Given the description of an element on the screen output the (x, y) to click on. 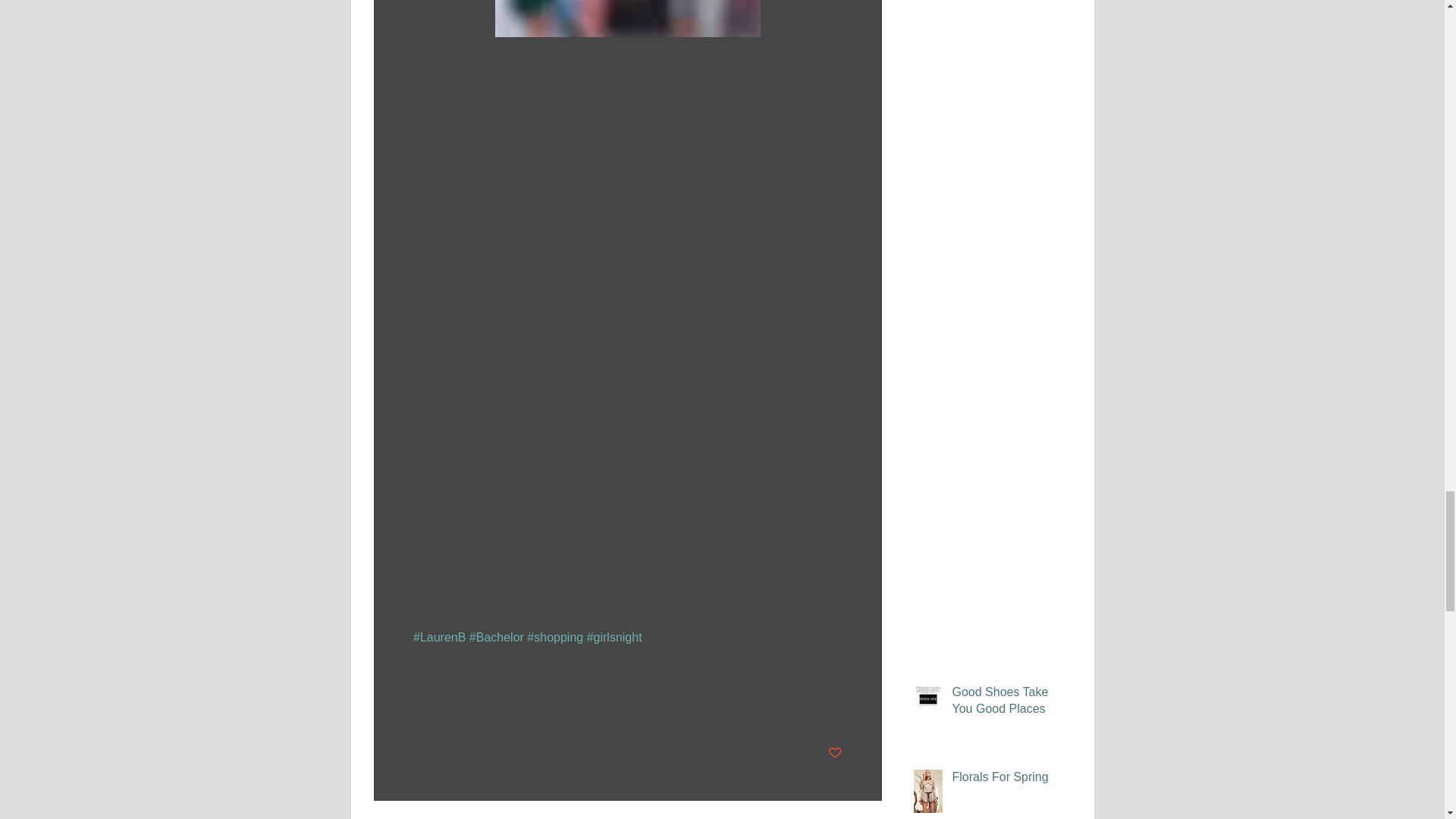
Florals For Spring (1006, 780)
Good Shoes Take You Good Places (1006, 703)
Post not marked as liked (835, 753)
